Given the description of an element on the screen output the (x, y) to click on. 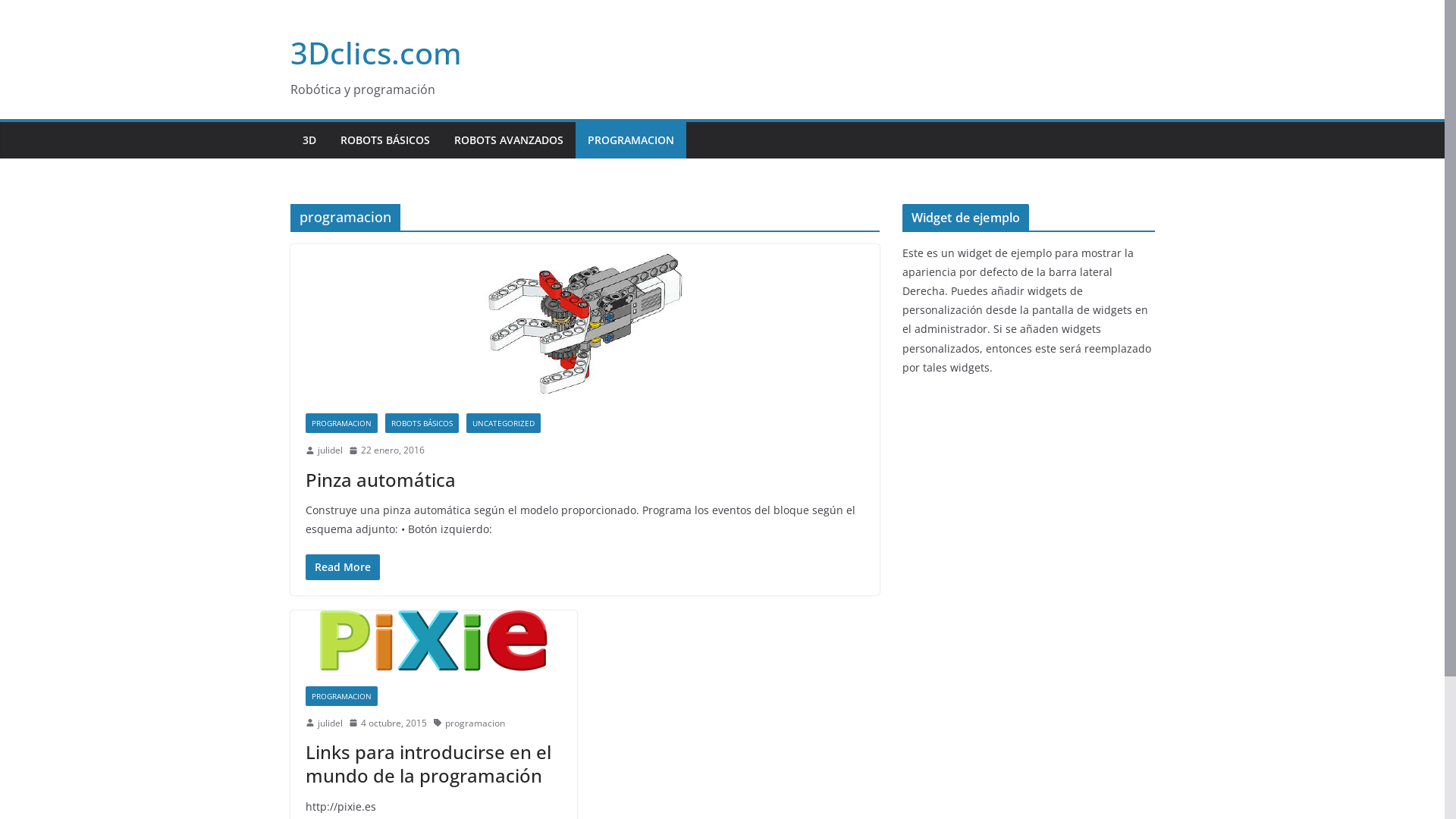
UNCATEGORIZED Element type: text (502, 423)
PROGRAMACION Element type: text (340, 423)
4 octubre, 2015 Element type: text (387, 723)
Read More Element type: text (341, 566)
julidel Element type: text (329, 723)
3Dclics.com Element type: text (375, 52)
julidel Element type: text (329, 450)
22 enero, 2016 Element type: text (386, 450)
3D Element type: text (308, 139)
PROGRAMACION Element type: text (340, 696)
programacion Element type: text (474, 723)
ROBOTS AVANZADOS Element type: text (507, 139)
PROGRAMACION Element type: text (629, 139)
